Given the description of an element on the screen output the (x, y) to click on. 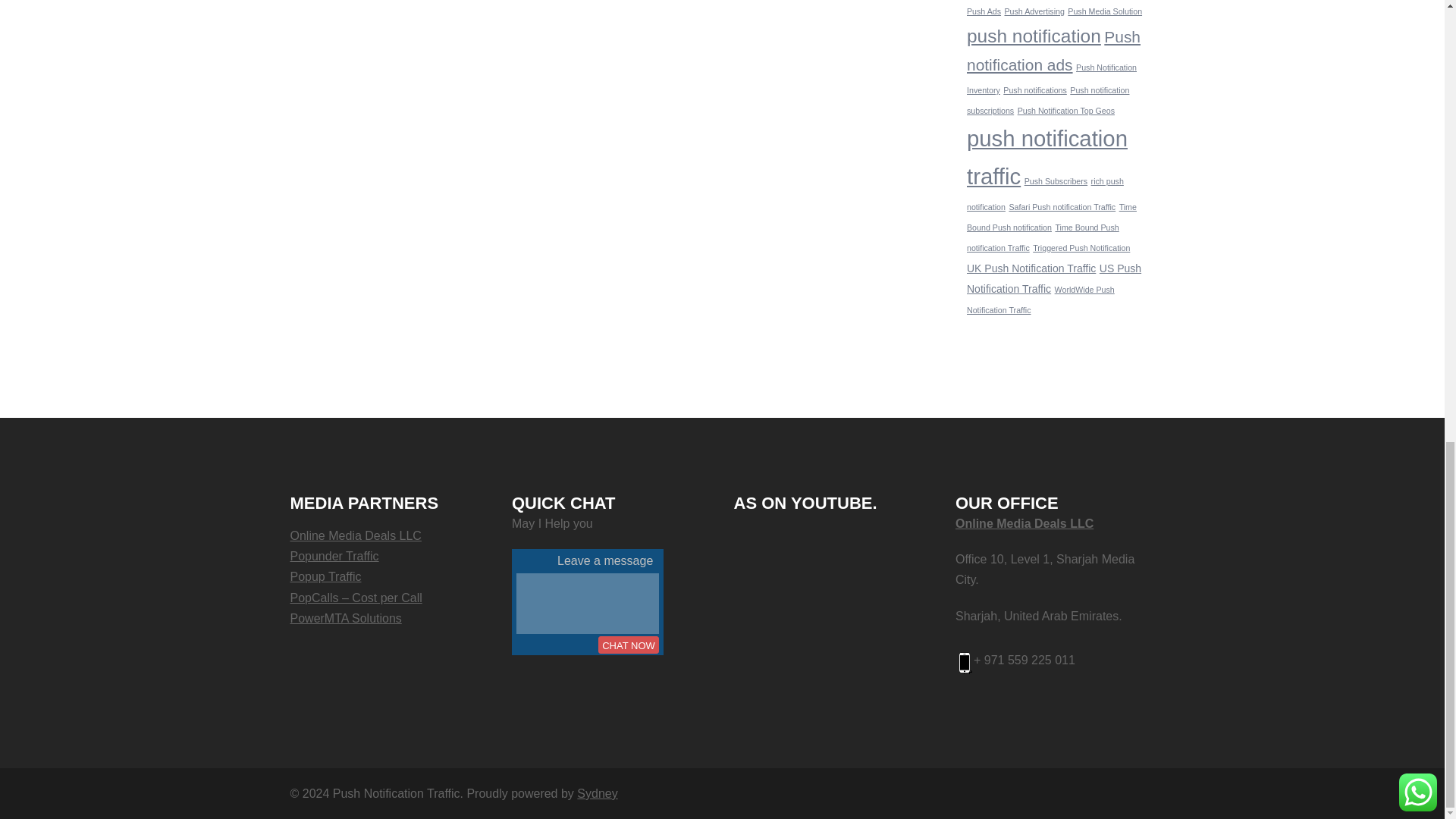
Push Advertising (1034, 10)
Push Ads (983, 10)
Push Media Solution (1104, 10)
